Given the description of an element on the screen output the (x, y) to click on. 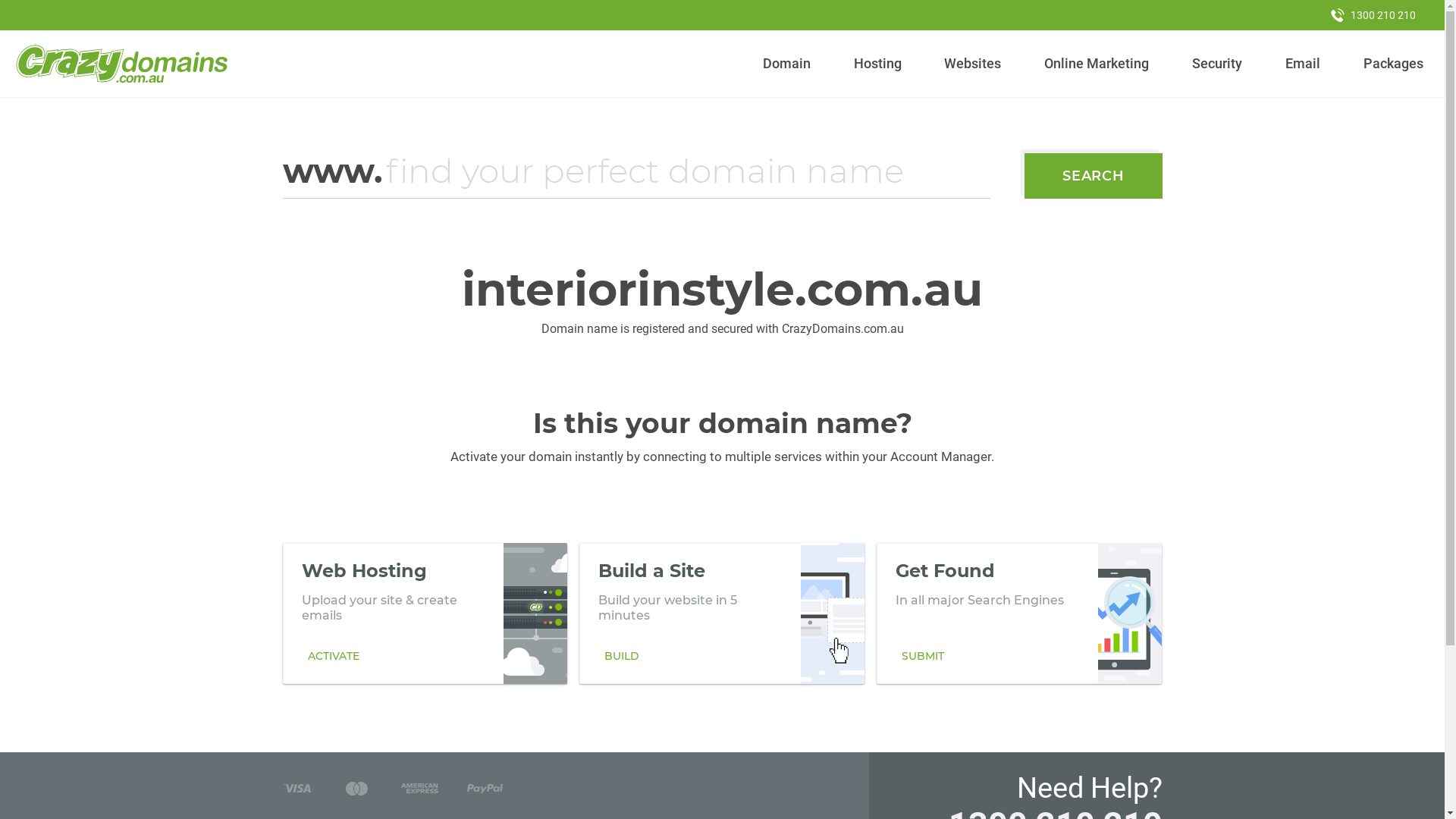
Get Found
In all major Search Engines
SUBMIT Element type: text (1018, 613)
Build a Site
Build your website in 5 minutes
BUILD Element type: text (721, 613)
Packages Element type: text (1392, 63)
Web Hosting
Upload your site & create emails
ACTIVATE Element type: text (424, 613)
Websites Element type: text (972, 63)
Online Marketing Element type: text (1096, 63)
SEARCH Element type: text (1092, 175)
Security Element type: text (1217, 63)
Domain Element type: text (786, 63)
Hosting Element type: text (877, 63)
1300 210 210 Element type: text (1373, 15)
Email Element type: text (1302, 63)
